Given the description of an element on the screen output the (x, y) to click on. 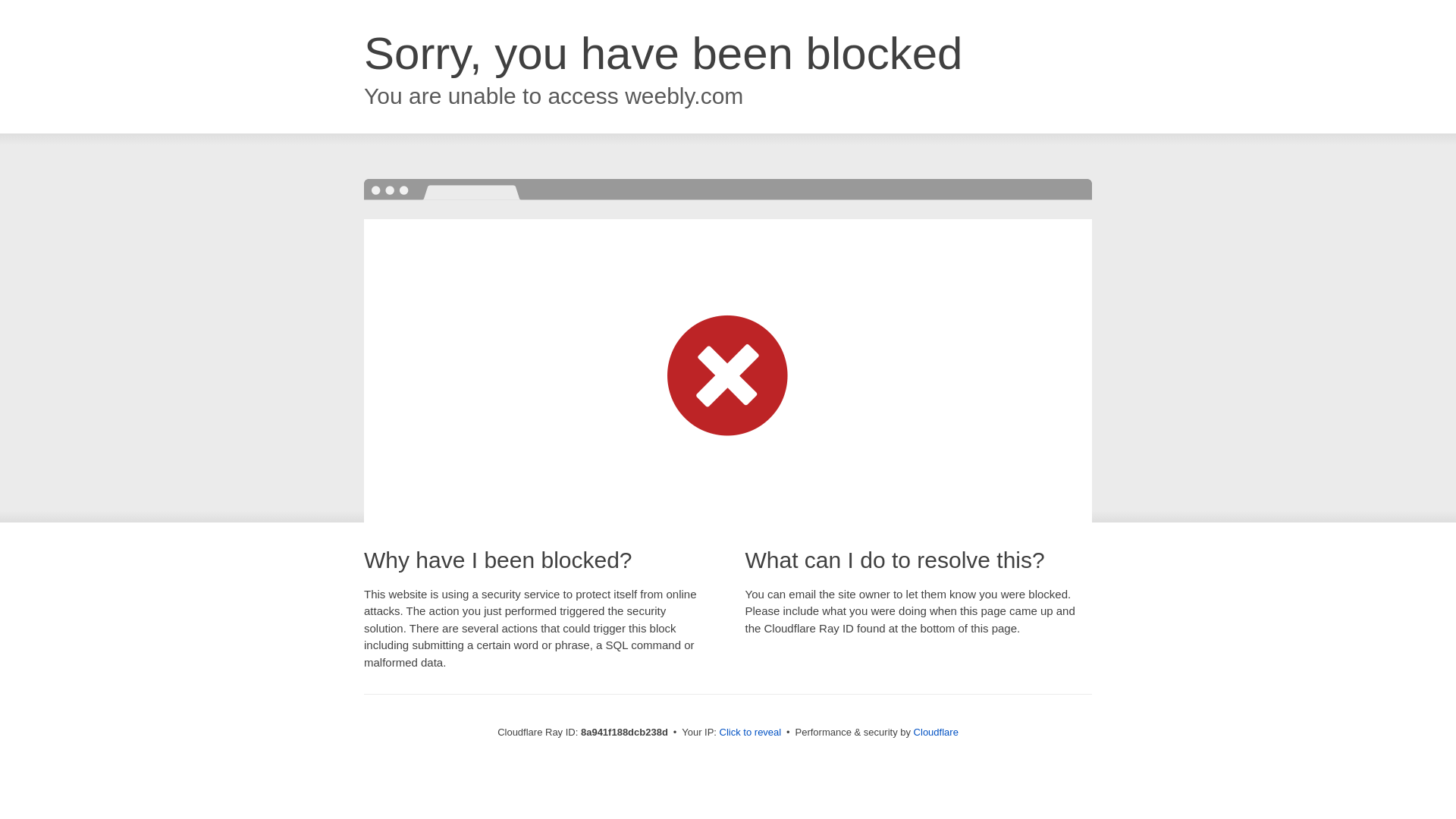
Click to reveal (750, 732)
Cloudflare (936, 731)
